Given the description of an element on the screen output the (x, y) to click on. 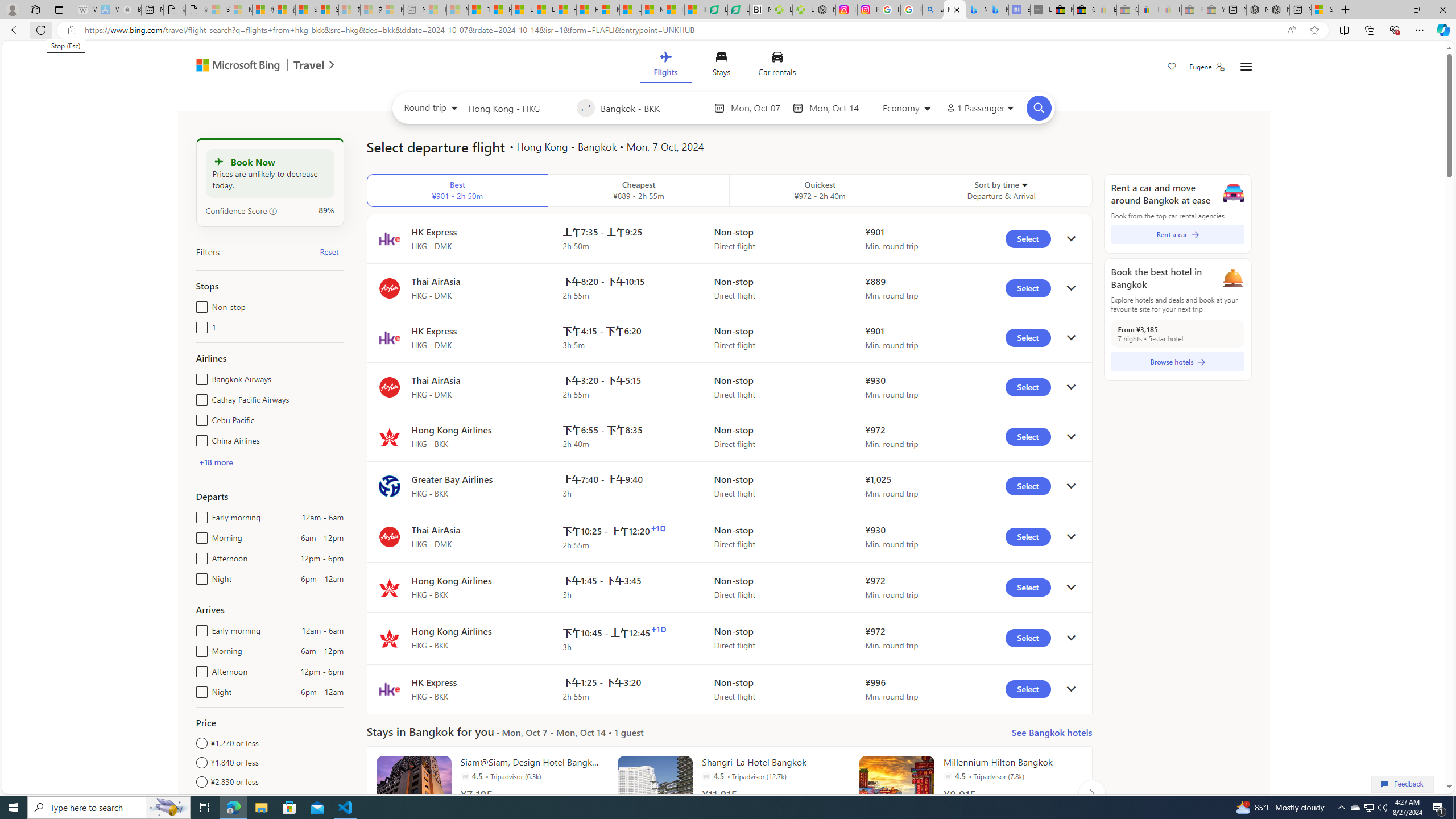
Bangkok Airways (199, 376)
